Given the description of an element on the screen output the (x, y) to click on. 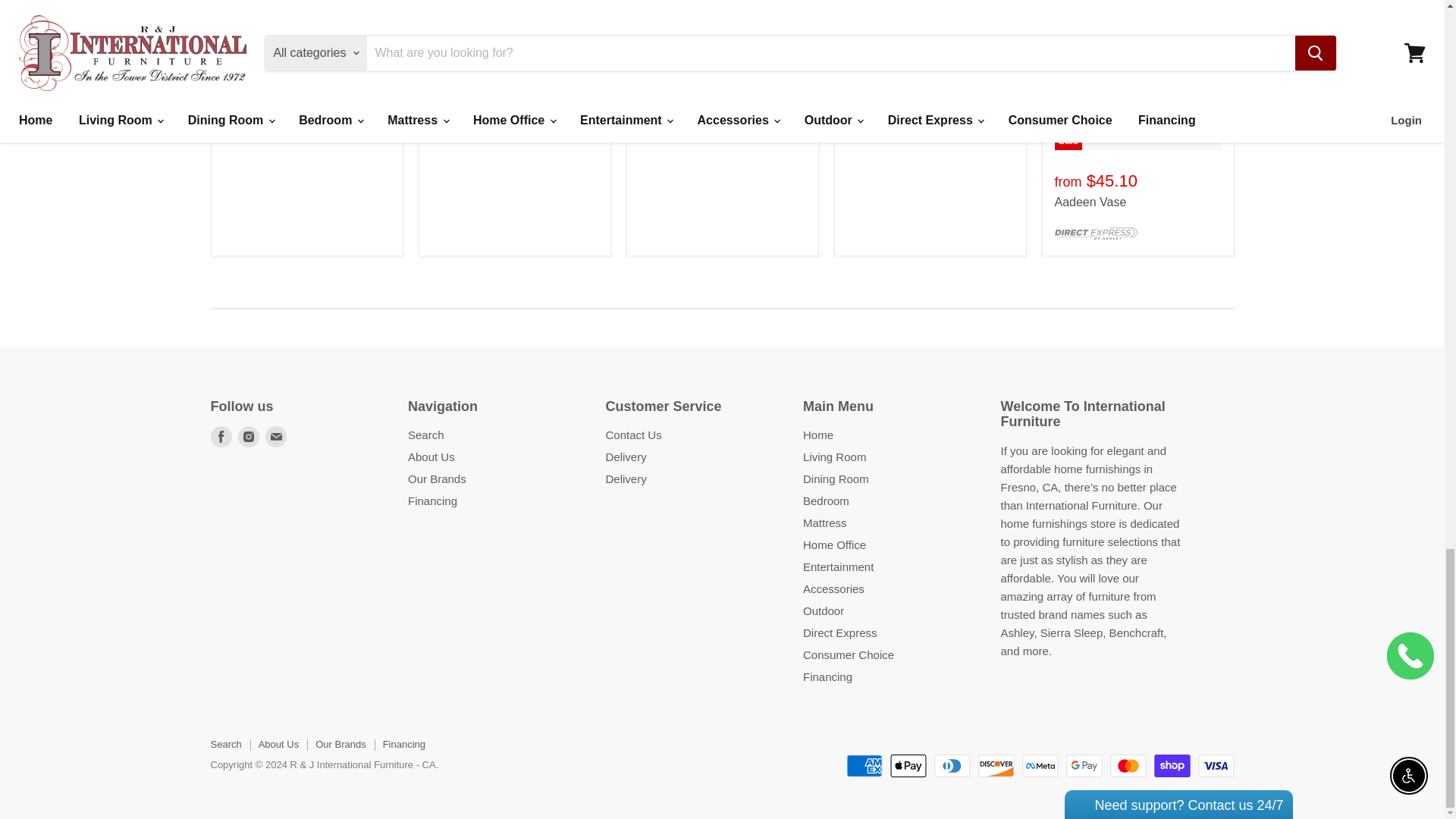
Facebook (221, 436)
Instagram (248, 436)
E-mail (275, 436)
